Given the description of an element on the screen output the (x, y) to click on. 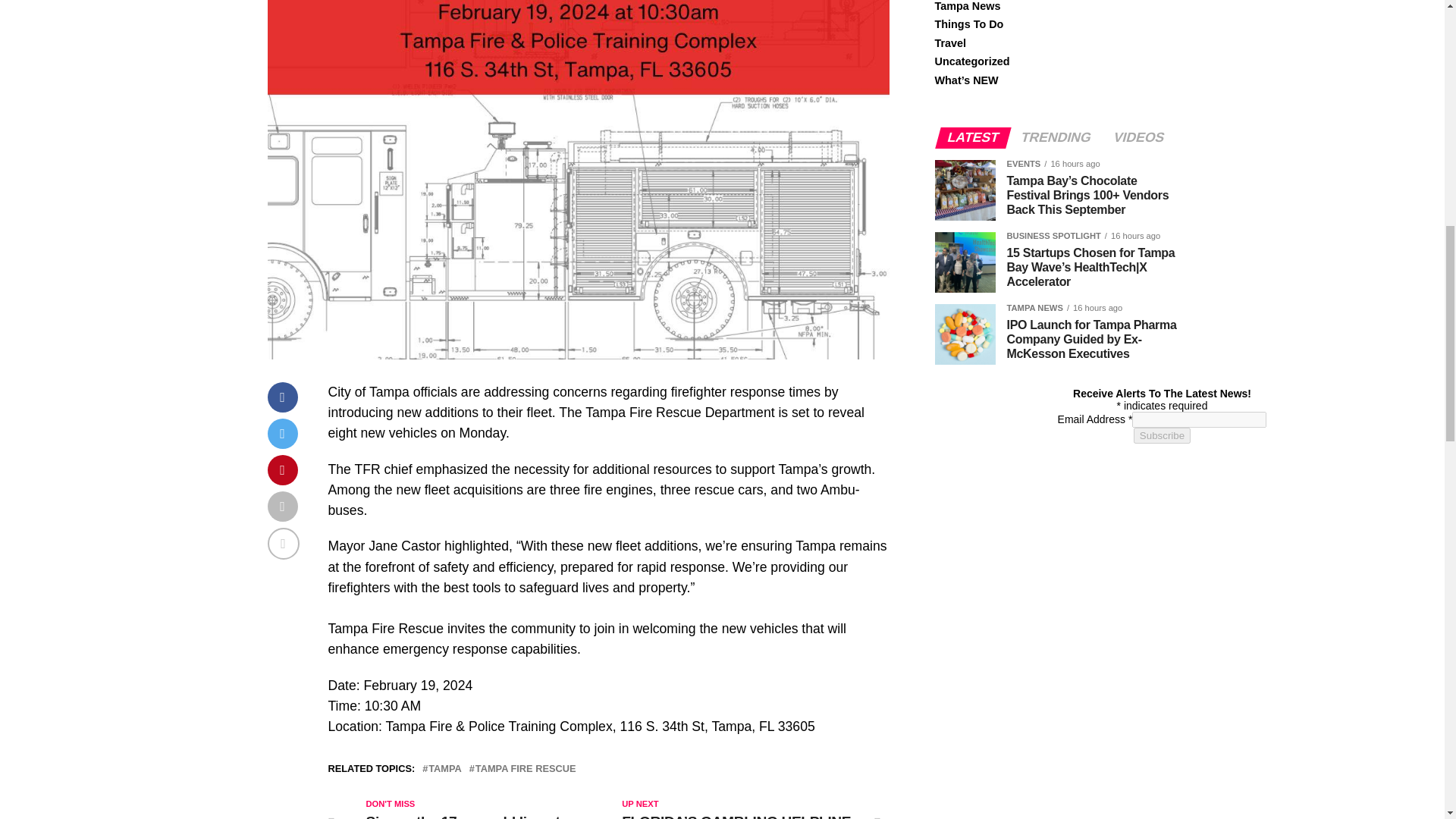
Subscribe (1162, 435)
